Given the description of an element on the screen output the (x, y) to click on. 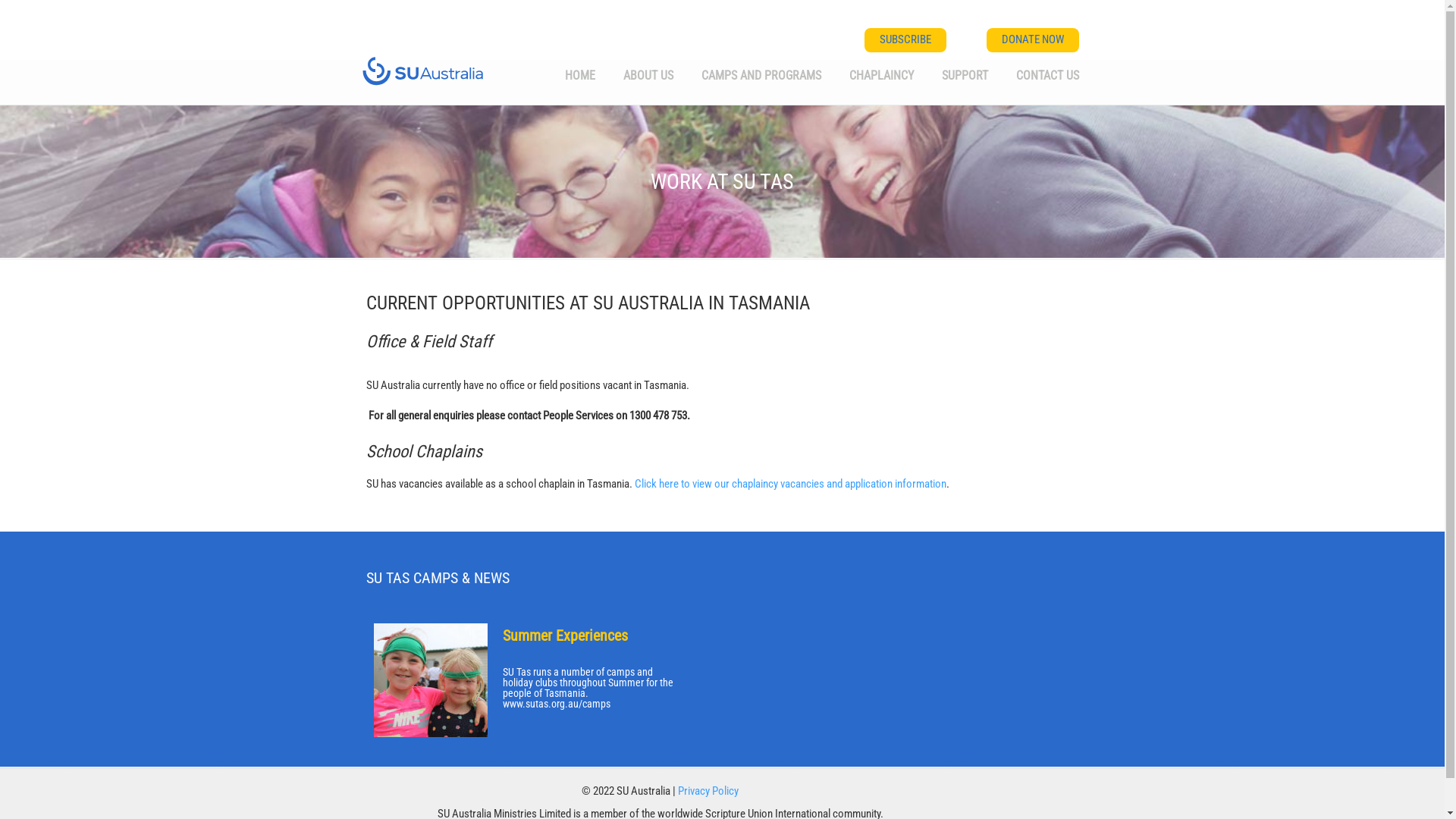
CAMPS AND PROGRAMS Element type: text (760, 75)
SUBSCRIBE Element type: text (905, 40)
HOME Element type: text (579, 75)
SUPPORT Element type: text (964, 75)
SU Australia in TAS Element type: text (423, 68)
ABOUT US Element type: text (648, 75)
DONATE NOW Element type: text (1031, 40)
CHAPLAINCY Element type: text (881, 75)
Summer Experiences Element type: text (564, 635)
Privacy Policy Element type: text (707, 790)
Positions Vacant Element type: text (553, 635)
CONTACT US Element type: text (1047, 75)
